Given the description of an element on the screen output the (x, y) to click on. 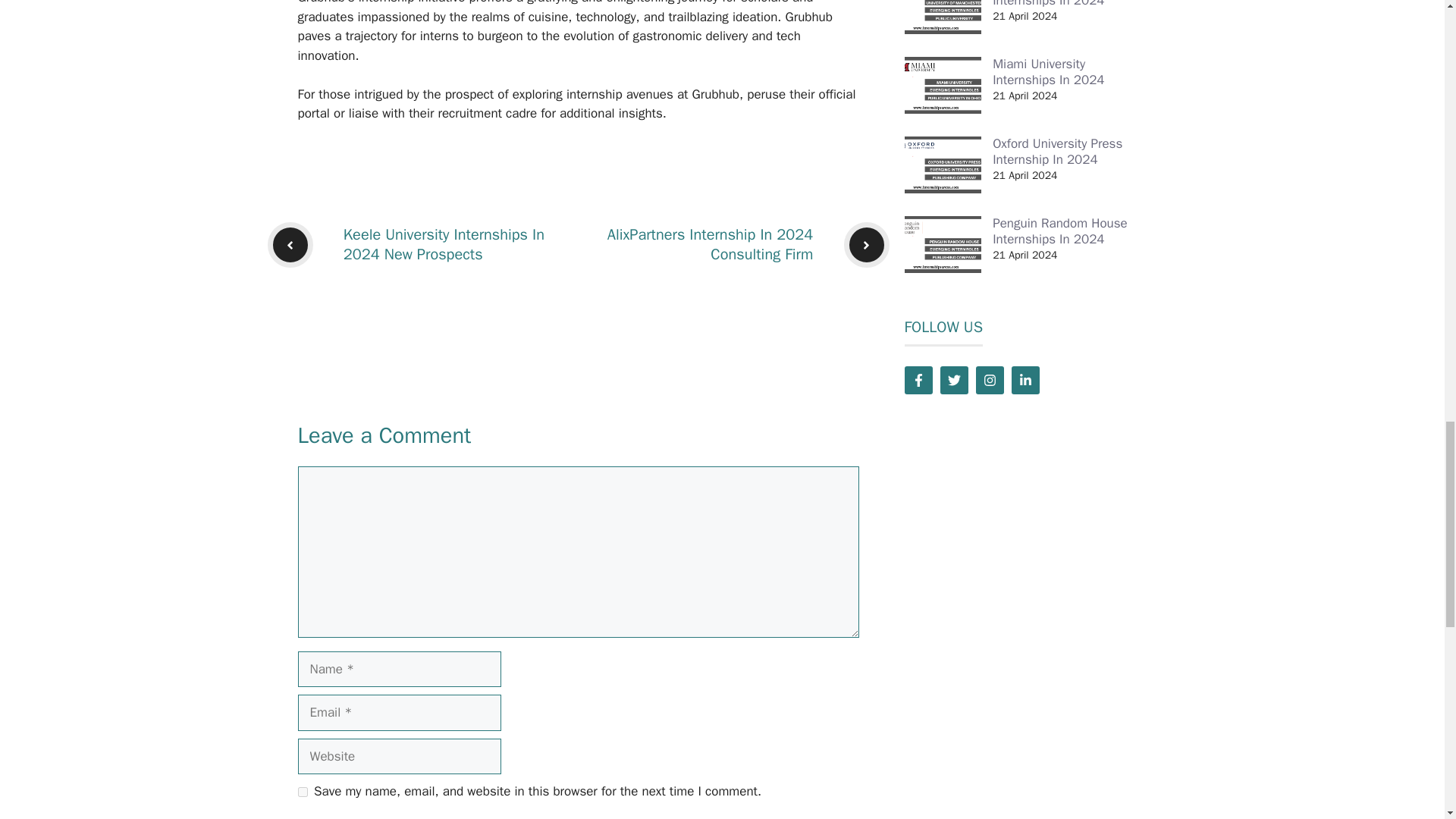
yes (302, 791)
Keele University Internships In 2024 New Prospects (443, 244)
AlixPartners Internship In 2024 Consulting Firm (710, 244)
